Given the description of an element on the screen output the (x, y) to click on. 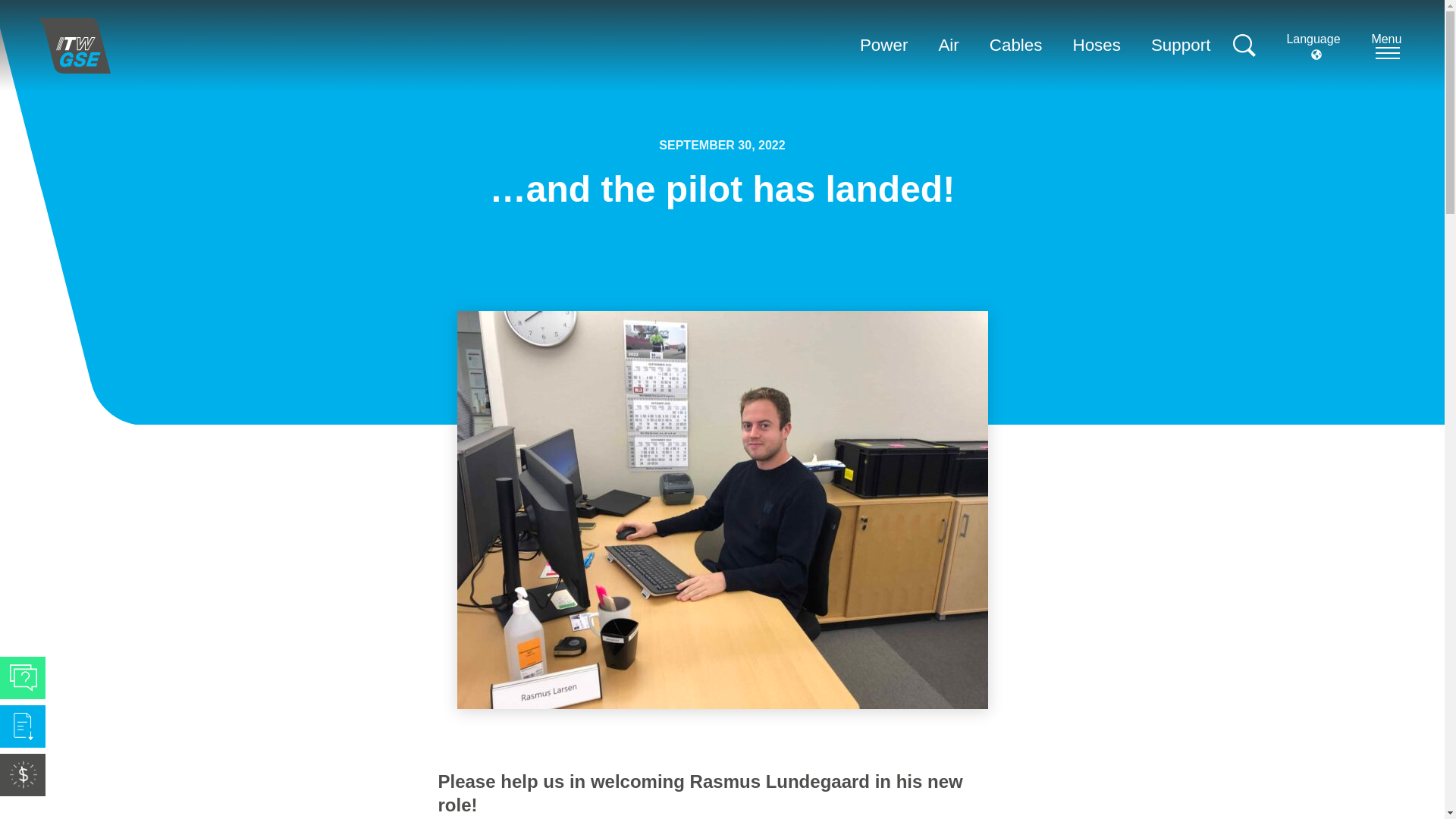
ITW GSE - It's all about connections (74, 45)
